Given the description of an element on the screen output the (x, y) to click on. 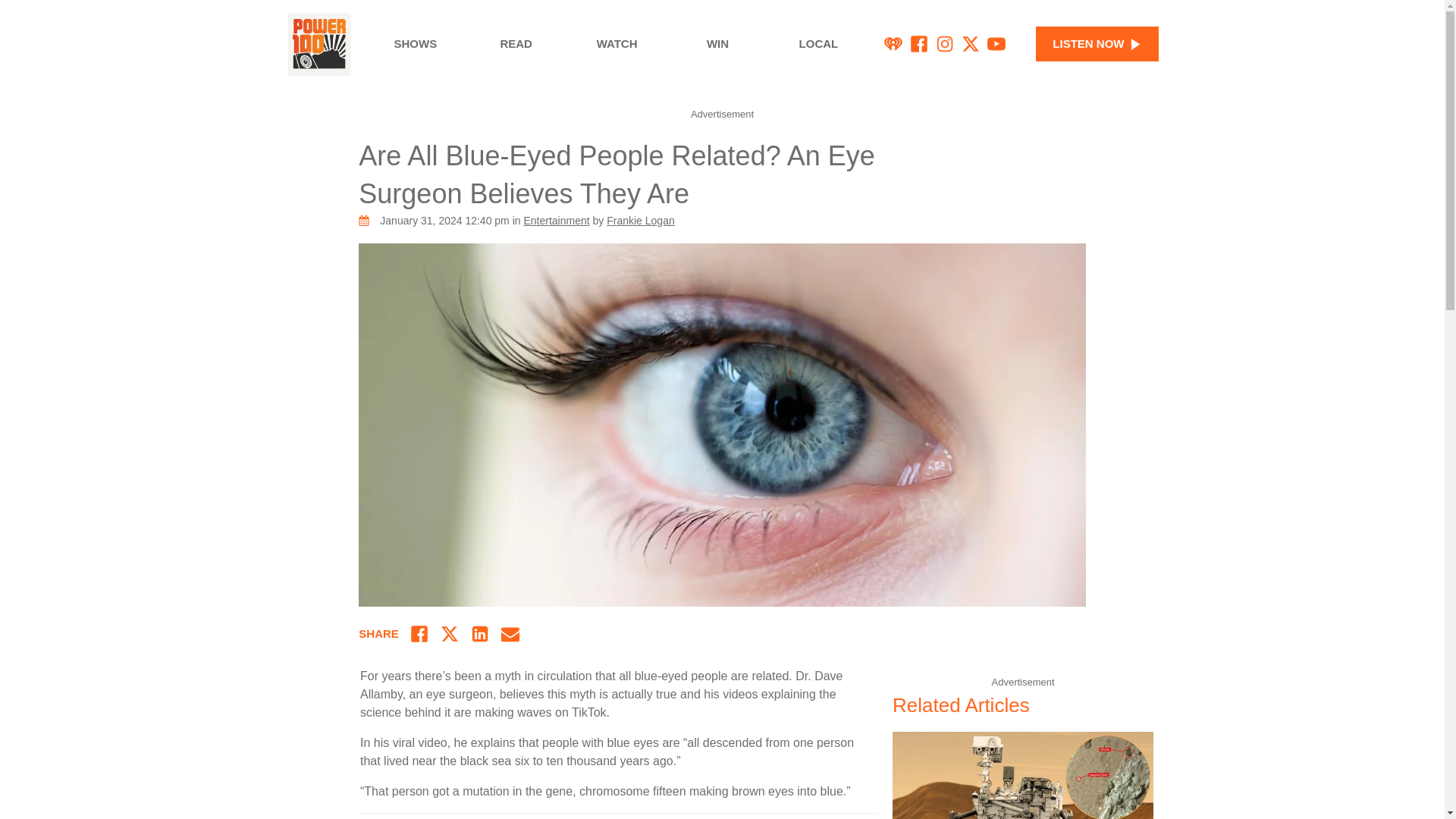
iHeart (892, 44)
Facebook (919, 44)
WATCH (616, 43)
Instagram (944, 44)
LOCAL (818, 43)
LISTEN NOW (1096, 44)
YouTube (996, 44)
READ (515, 43)
Posts by Frankie Logan (641, 220)
SHOWS (415, 43)
WIN (717, 43)
